Given the description of an element on the screen output the (x, y) to click on. 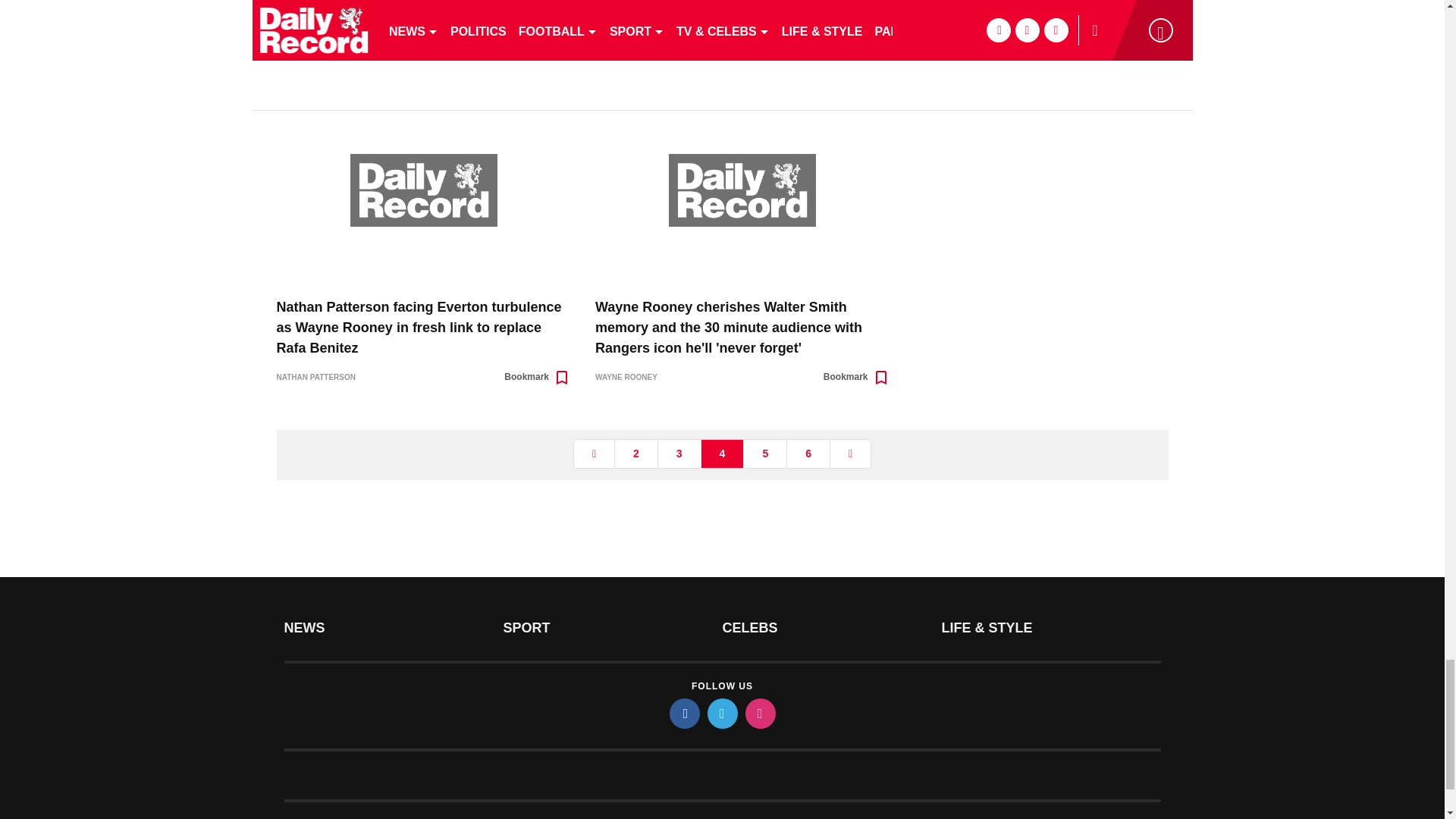
twitter (721, 713)
instagram (759, 713)
facebook (683, 713)
